Given the description of an element on the screen output the (x, y) to click on. 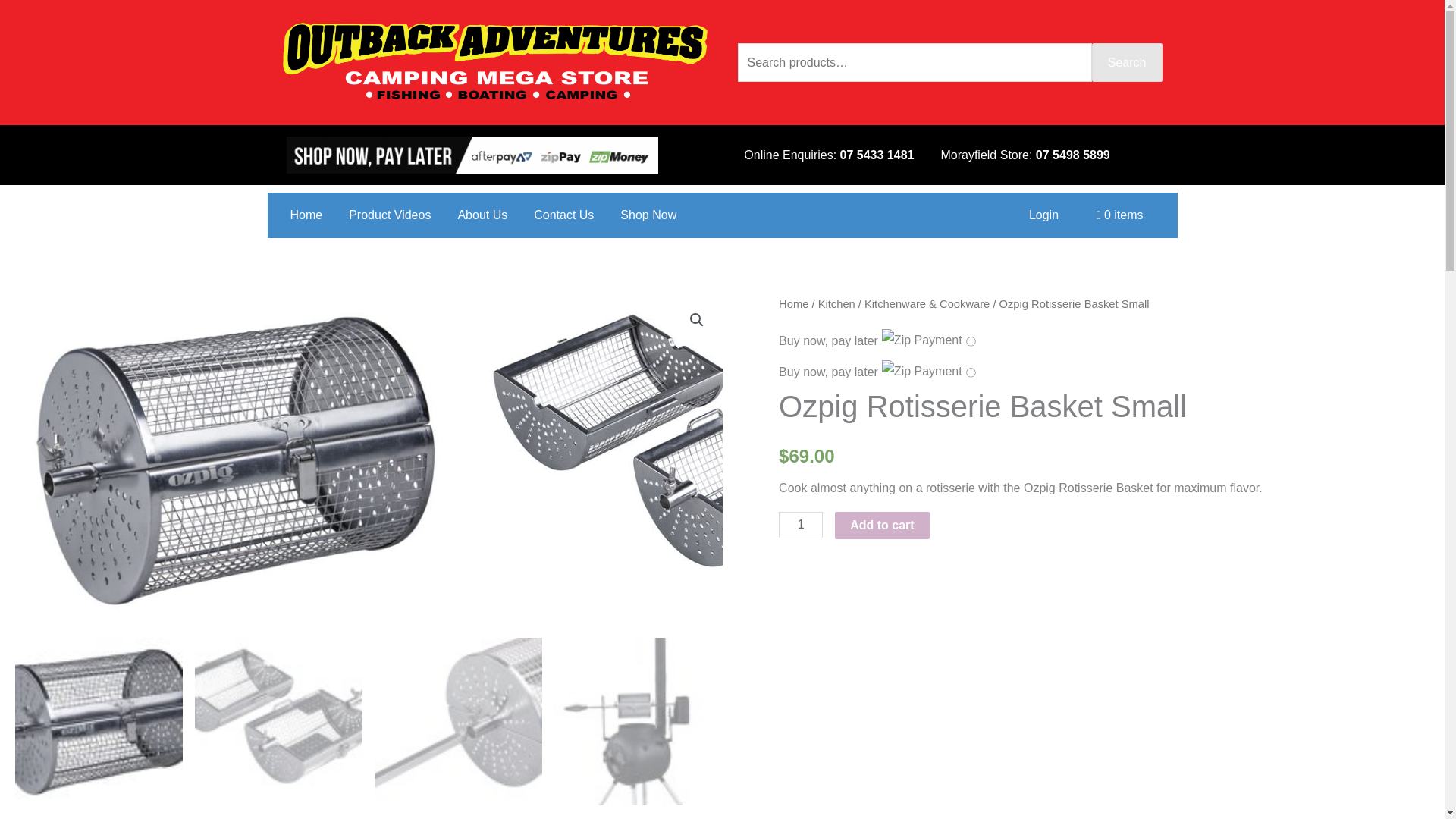
About Us (481, 215)
Online Enquiries: 07 5433 1481 (829, 155)
Home (793, 304)
0 items (1119, 215)
Kitchen (837, 304)
Search (1126, 62)
Add to cart (881, 524)
Zip payment Information (968, 372)
Product Videos (389, 215)
1 (800, 524)
Shop Now (647, 215)
Login (1043, 215)
Morayfield Store: 07 5498 5899 (1024, 155)
Zip payment Information (968, 341)
